Given the description of an element on the screen output the (x, y) to click on. 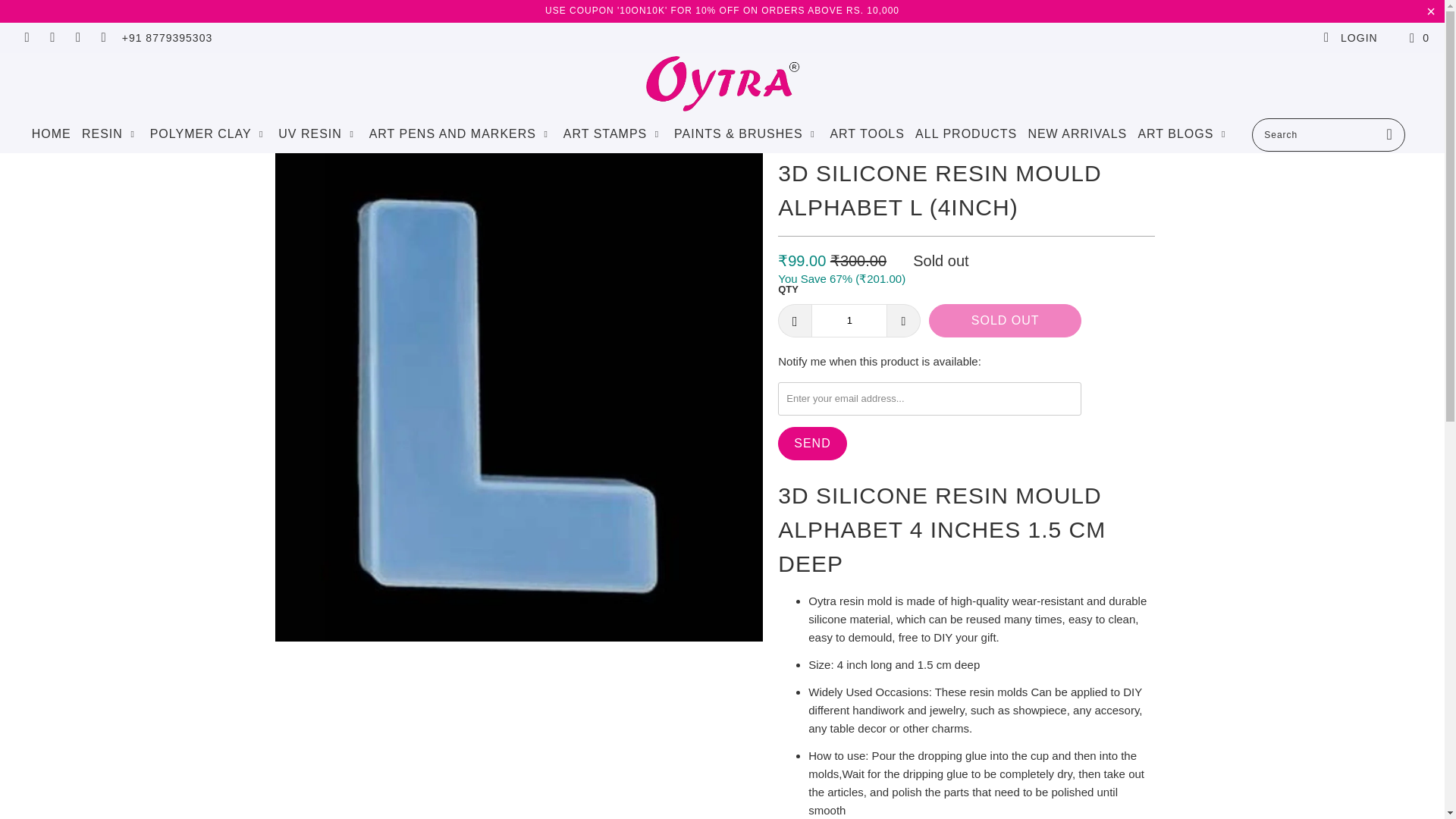
Email Oytra (103, 37)
Oytra on Facebook (25, 37)
1 (848, 320)
Oytra on Instagram (76, 37)
Oytra on YouTube (52, 37)
My Account  (1350, 37)
Send (811, 443)
